Given the description of an element on the screen output the (x, y) to click on. 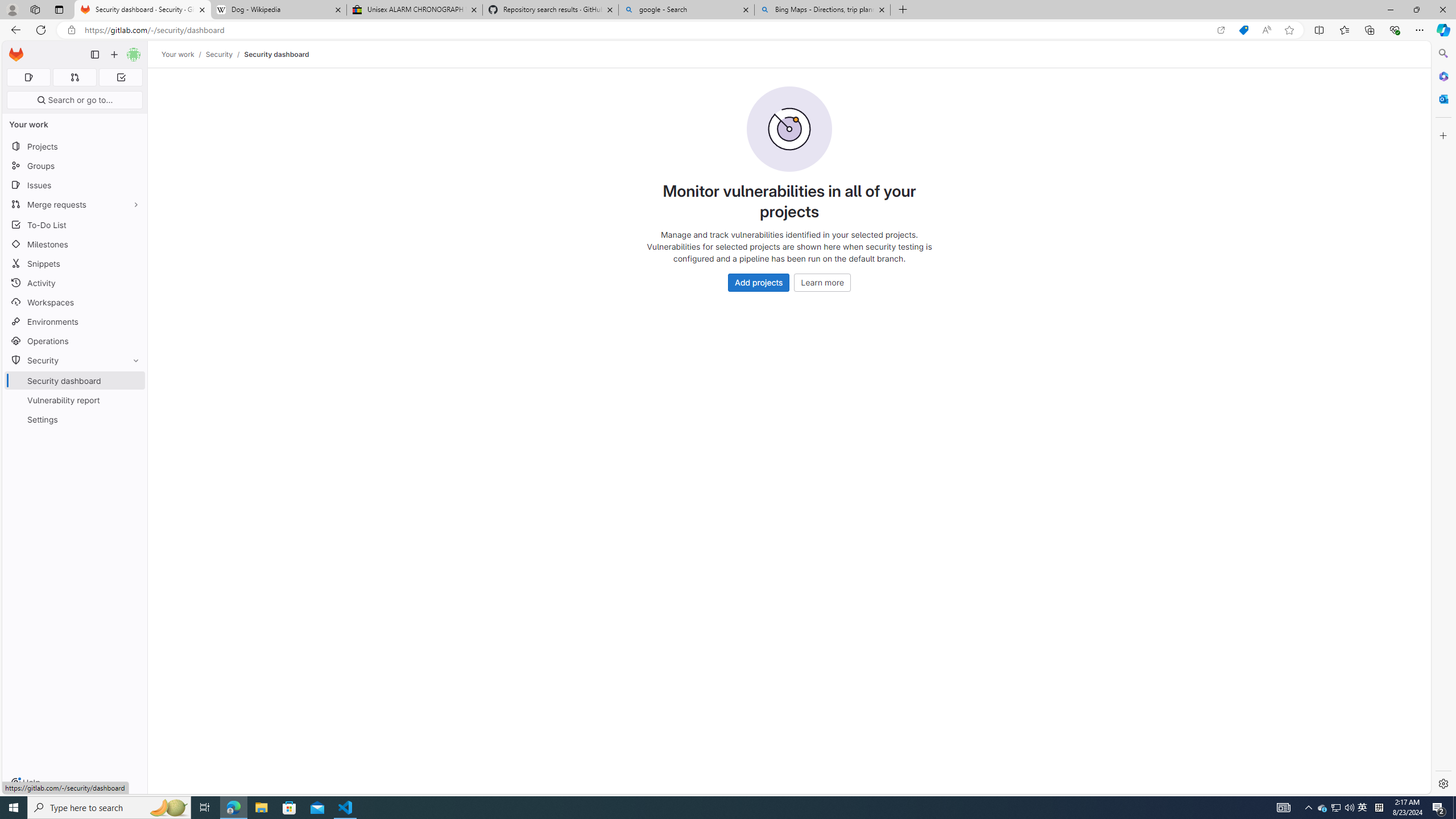
Primary navigation sidebar (94, 54)
Settings (74, 419)
Address and search bar (647, 29)
google - Search (685, 9)
Workspaces (34, 9)
